Given the description of an element on the screen output the (x, y) to click on. 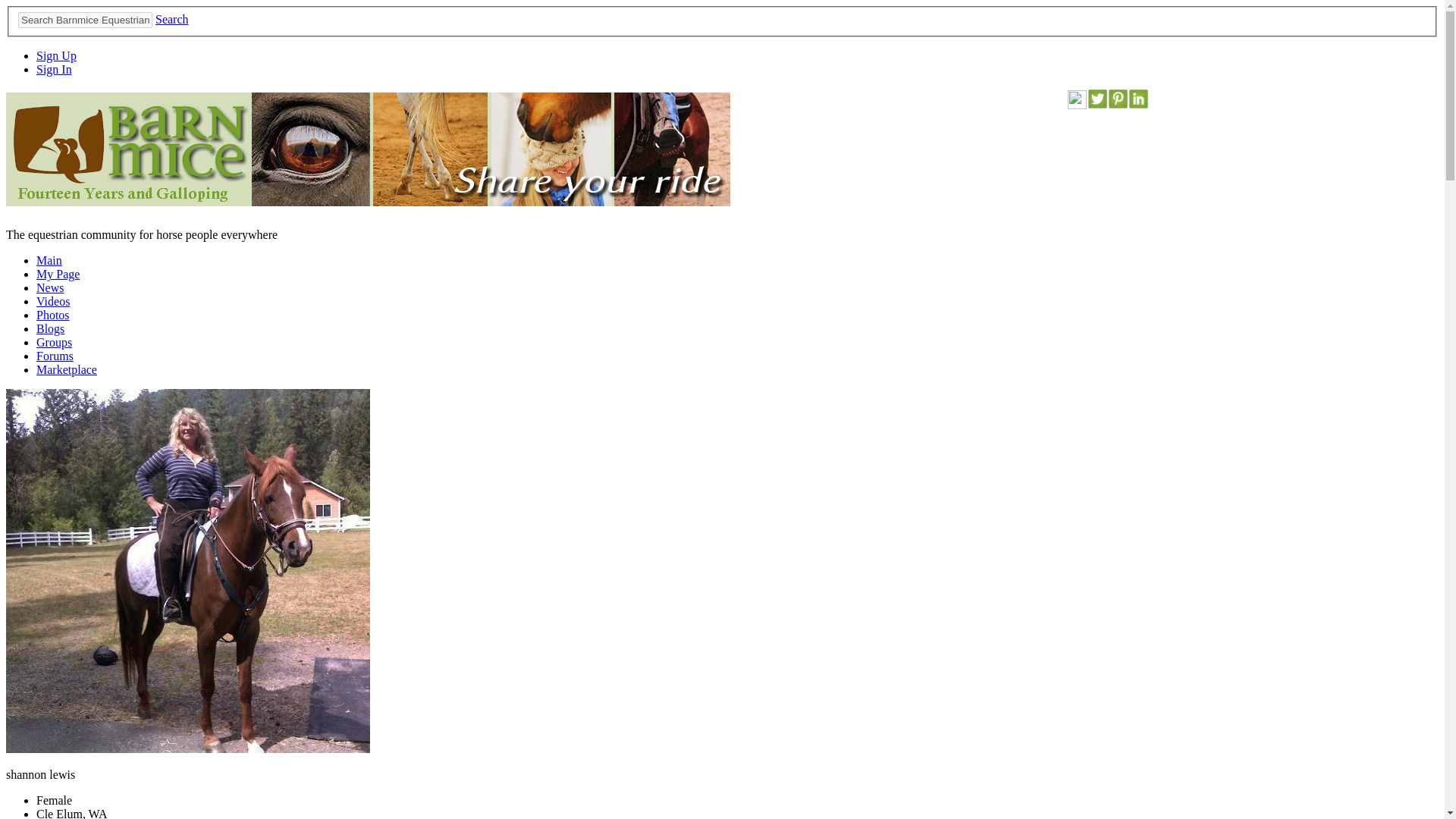
Sign Up (56, 55)
Blogs (50, 328)
Sign In (53, 69)
Search Barnmice Equestrian Social Community (84, 19)
News (50, 287)
Main (49, 259)
Search (172, 19)
Search Barnmice Equestrian Social Community (84, 19)
Photos (52, 314)
Videos (52, 300)
My Page (58, 273)
